Given the description of an element on the screen output the (x, y) to click on. 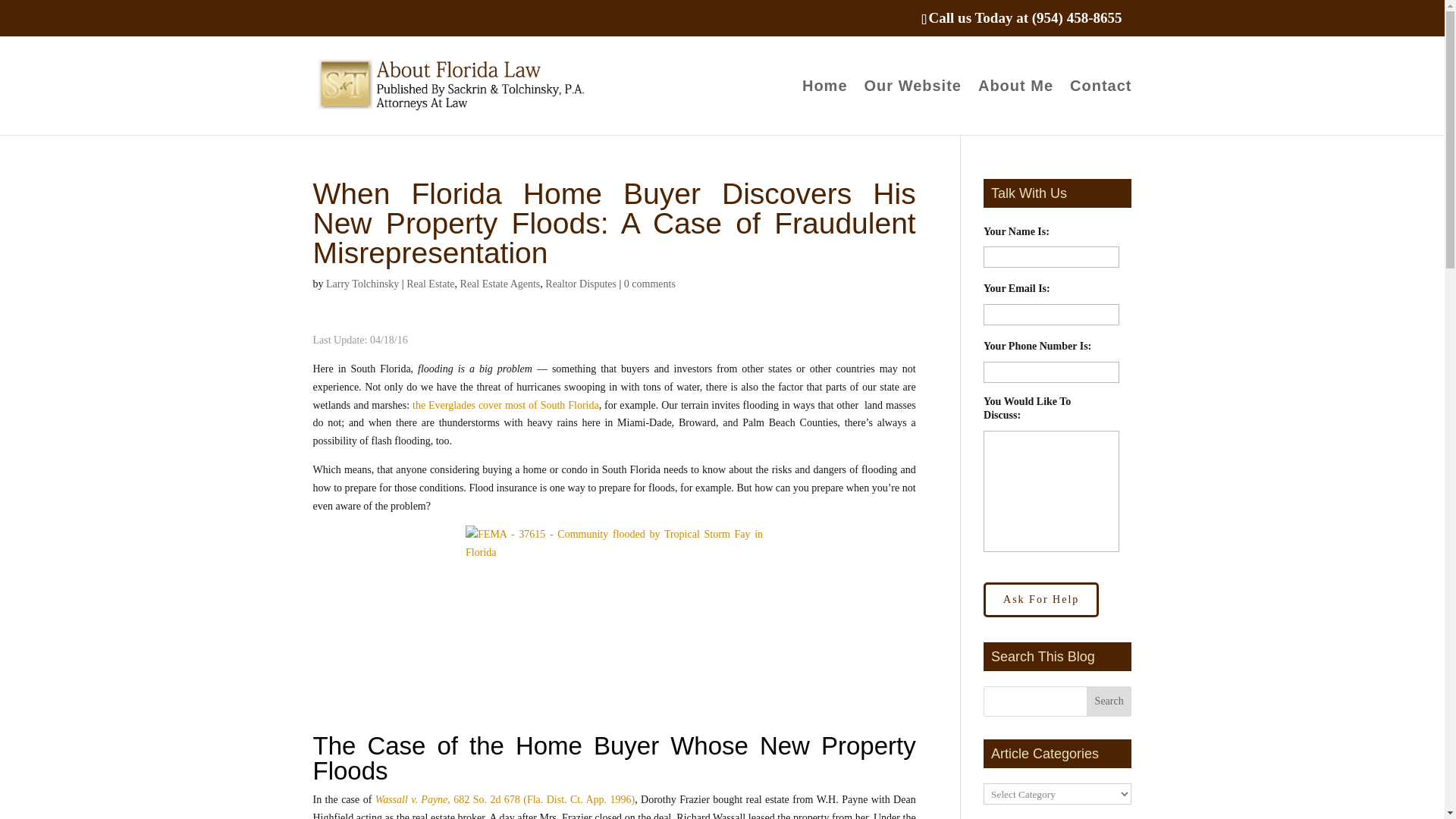
Search (1109, 701)
Real Estate (430, 283)
Real Estate Agents (500, 283)
0 comments (649, 283)
Posts by Larry Tolchinsky (362, 283)
About Me (1015, 107)
Ask For Help (1041, 599)
Our Website (912, 107)
Ask For Help (1041, 599)
Search (1109, 701)
